Given the description of an element on the screen output the (x, y) to click on. 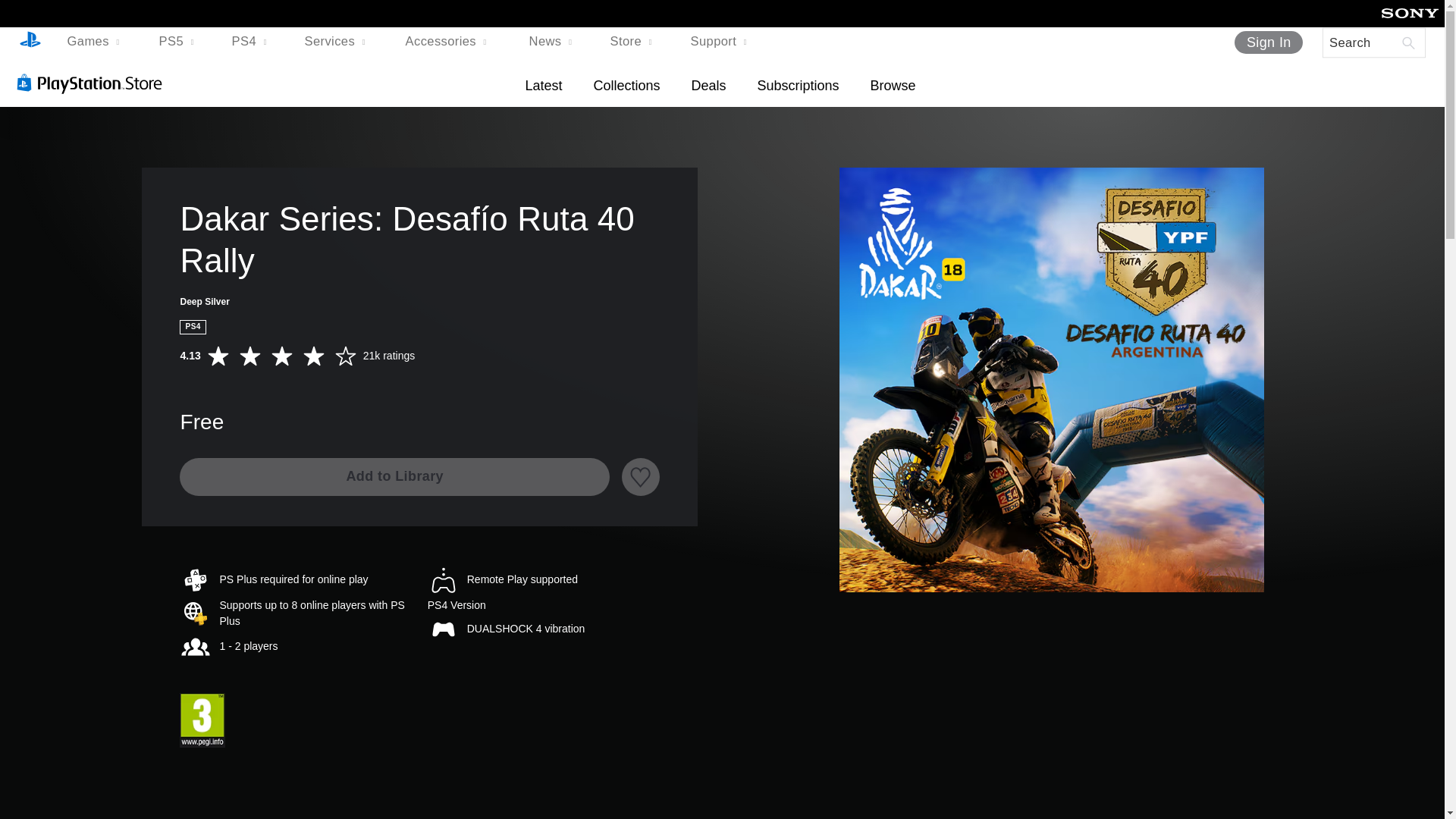
PS4 (250, 42)
Services (337, 42)
Accessories (449, 42)
Games (96, 42)
PS5 (177, 42)
